Given the description of an element on the screen output the (x, y) to click on. 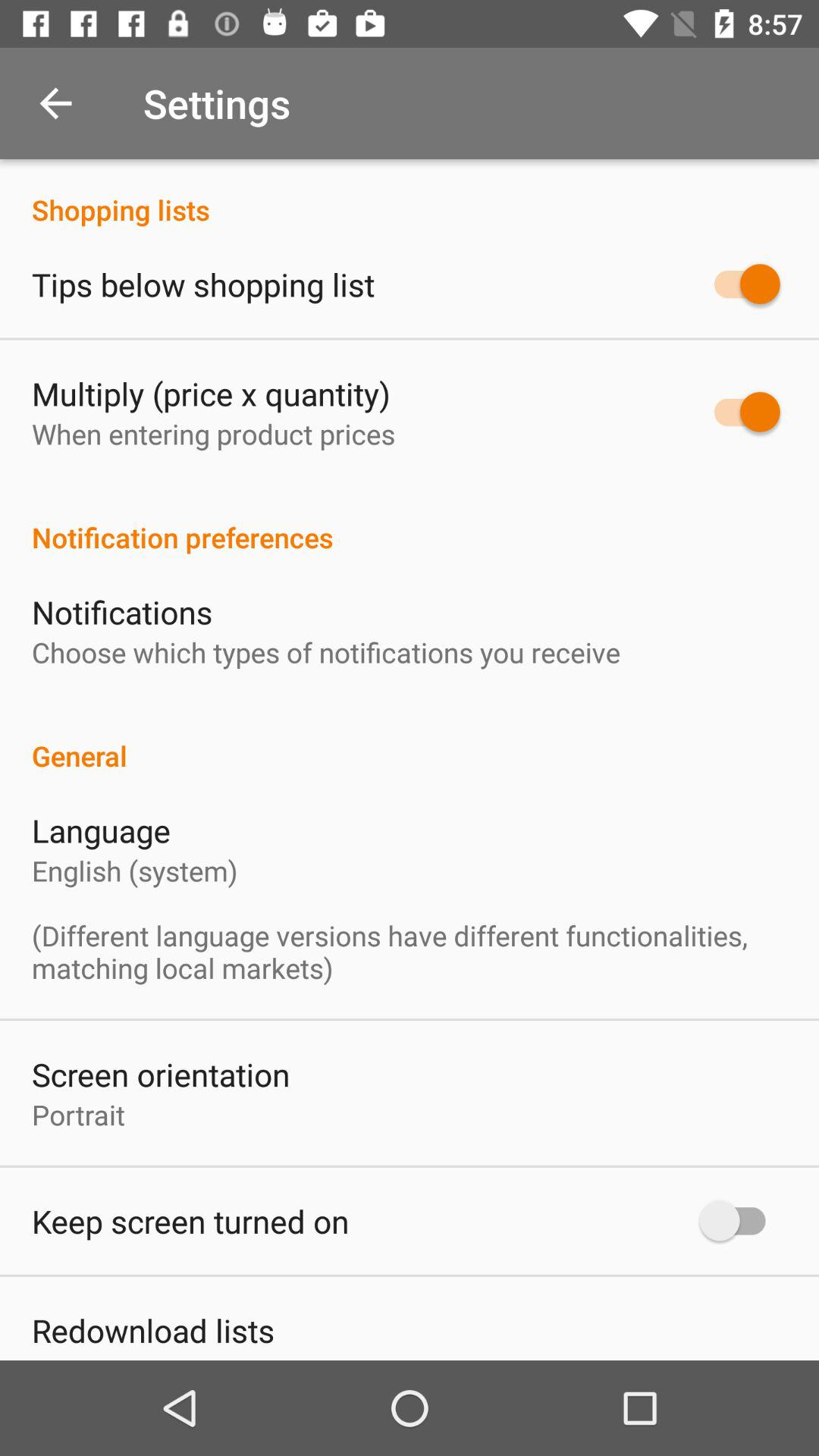
launch the item above the shopping lists (55, 103)
